Given the description of an element on the screen output the (x, y) to click on. 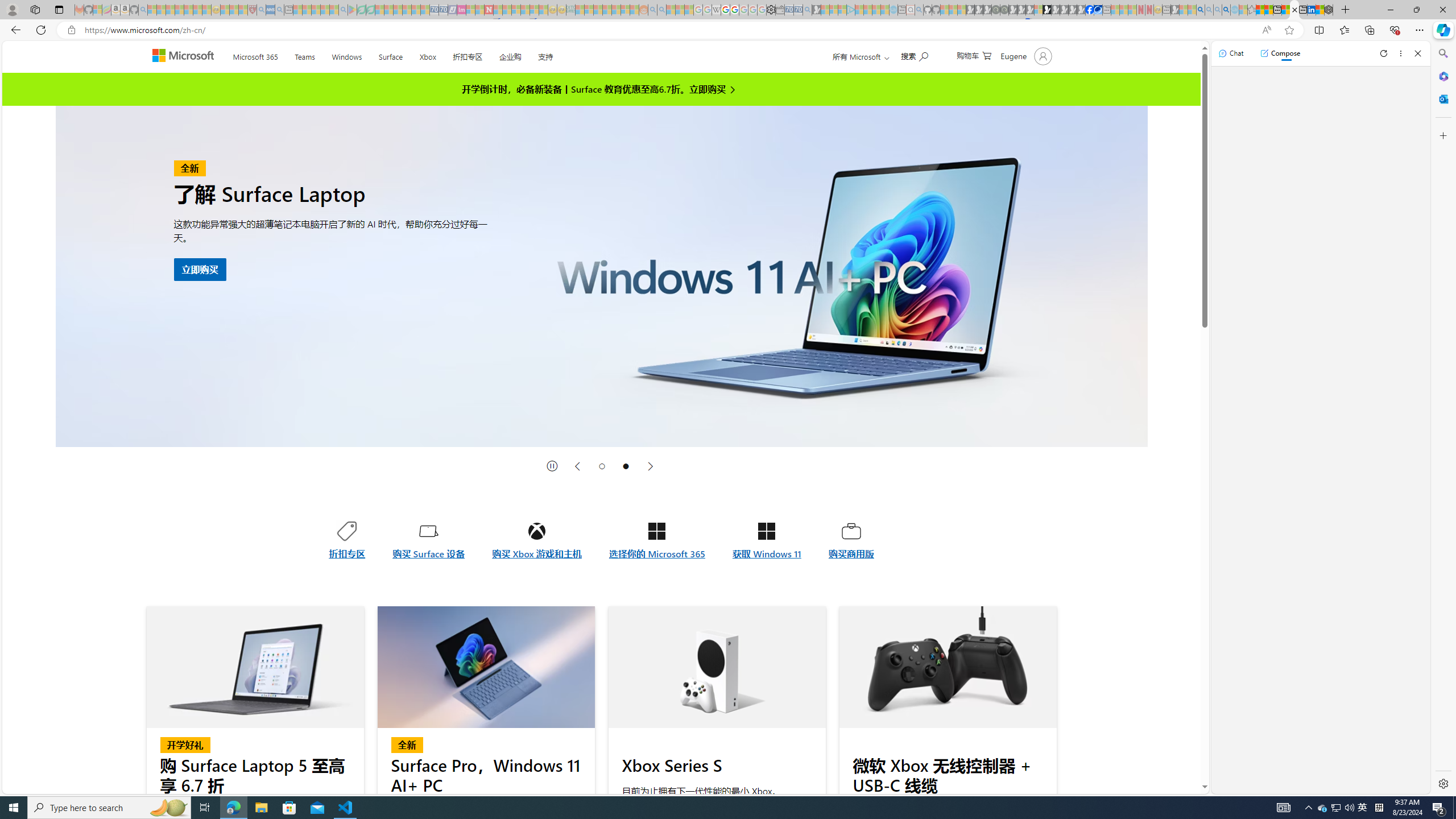
Teams (303, 54)
Utah sues federal government - Search - Sleeping (661, 9)
A pair of Xbox Wireless Controllers with USB-C Cable. (947, 667)
Close Outlook pane (1442, 98)
Trusted Community Engagement and Contributions | Guidelines (497, 9)
MSN - Sleeping (1174, 9)
Microsoft Start Gaming - Sleeping (815, 9)
